Given the description of an element on the screen output the (x, y) to click on. 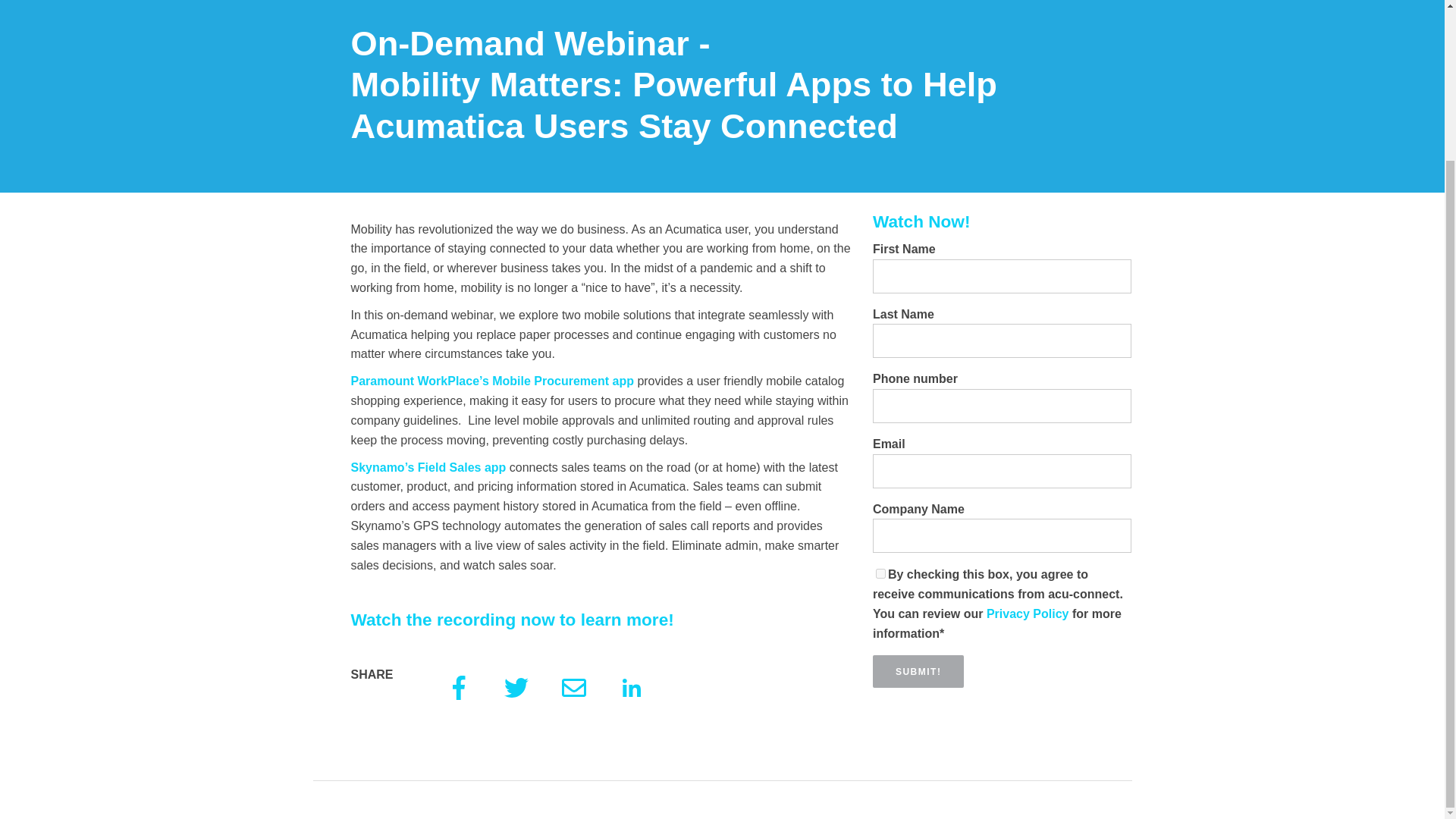
Submit! (917, 671)
Submit! (917, 671)
Privacy Policy (1029, 613)
true (880, 573)
